Given the description of an element on the screen output the (x, y) to click on. 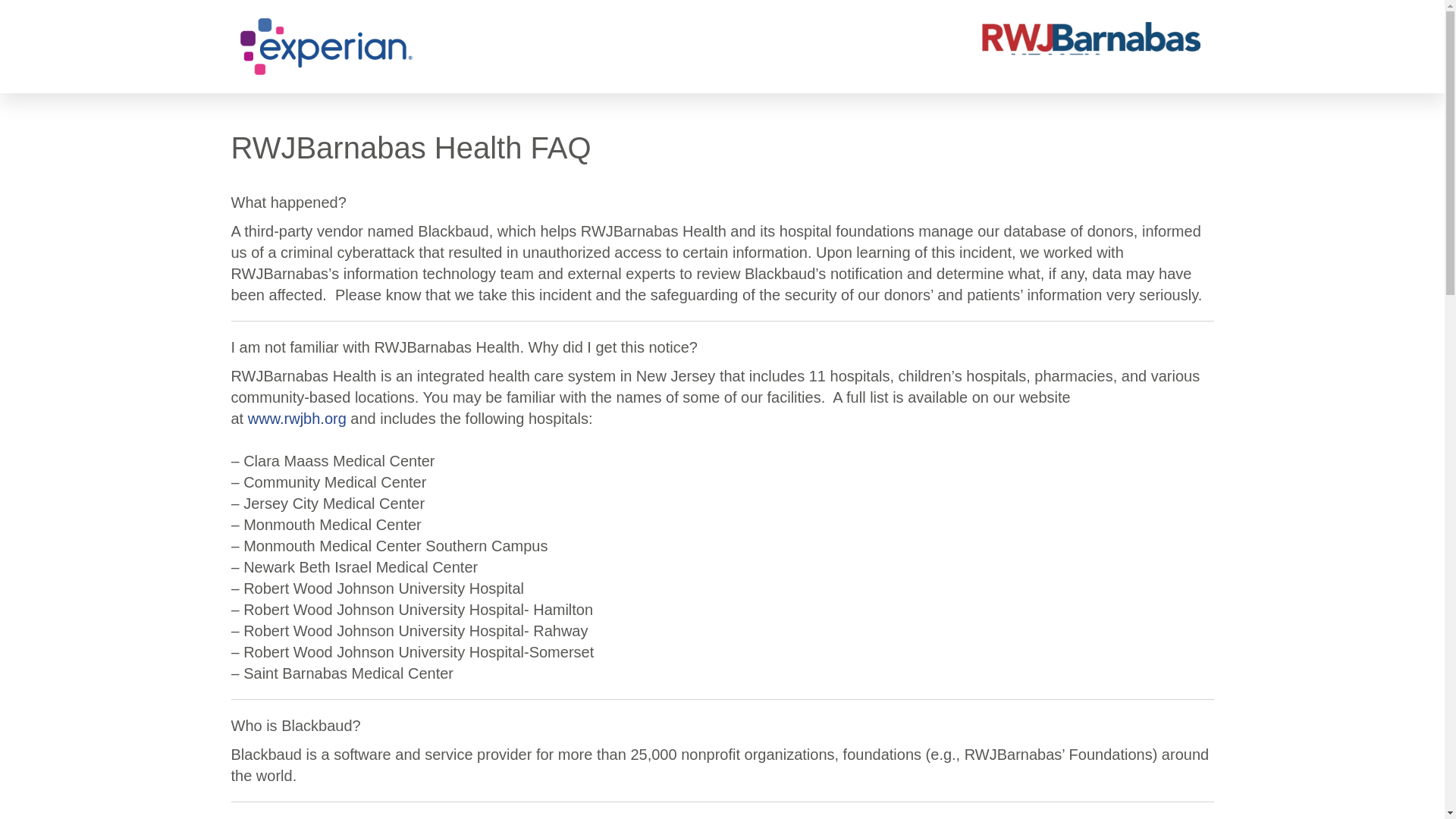
www.rwjbh.org (296, 418)
